Given the description of an element on the screen output the (x, y) to click on. 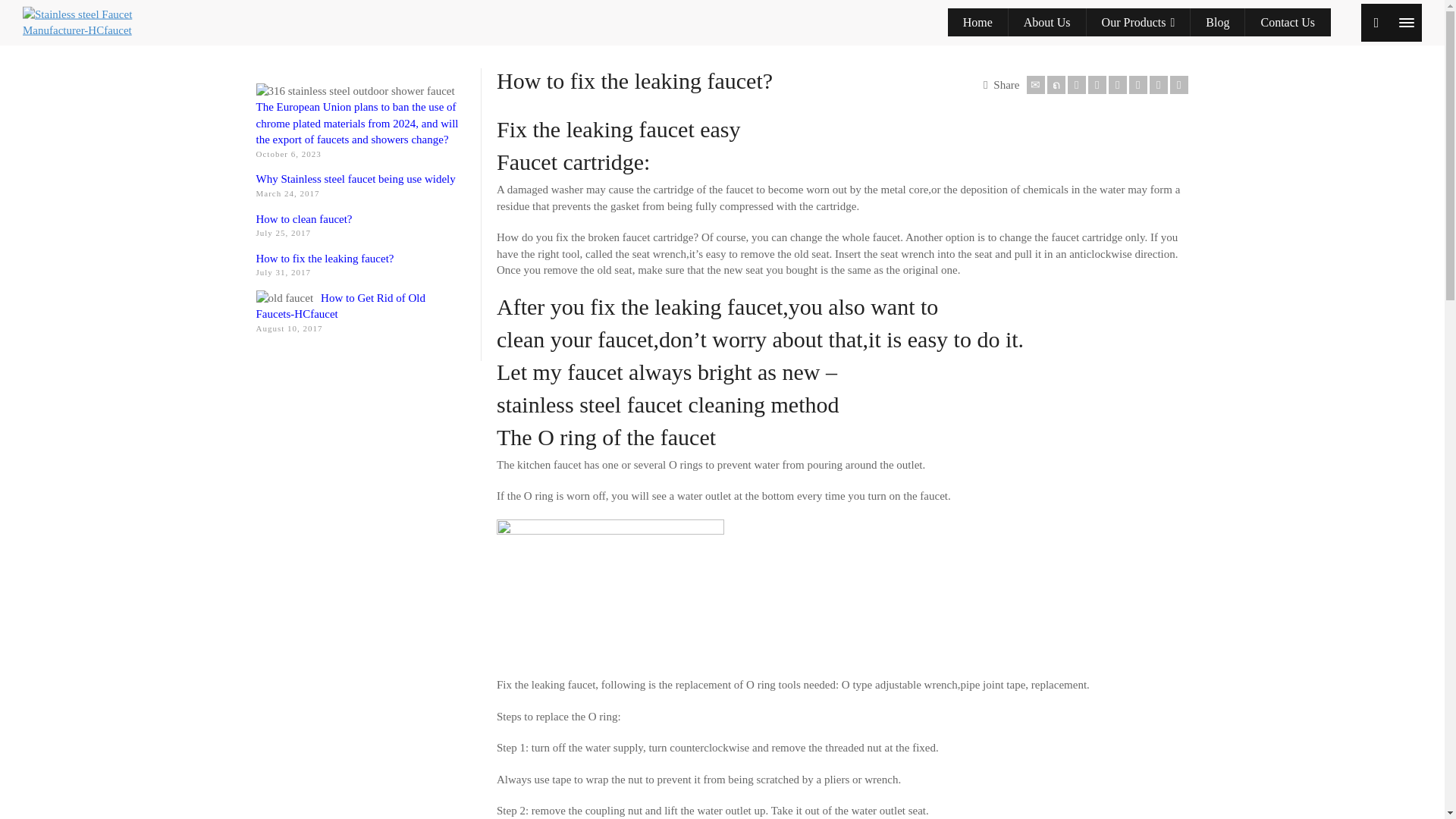
Tumblr (1138, 85)
Pinterest (1117, 85)
Home (978, 22)
Blog (1217, 22)
stainless steel faucet cleaning method (668, 404)
Facebook (1076, 85)
Vkontakte (1179, 85)
Twitter (1055, 85)
How to  clean faucet? (304, 218)
How to Get Rid of Old Faucets-HCfaucet (340, 305)
